Given the description of an element on the screen output the (x, y) to click on. 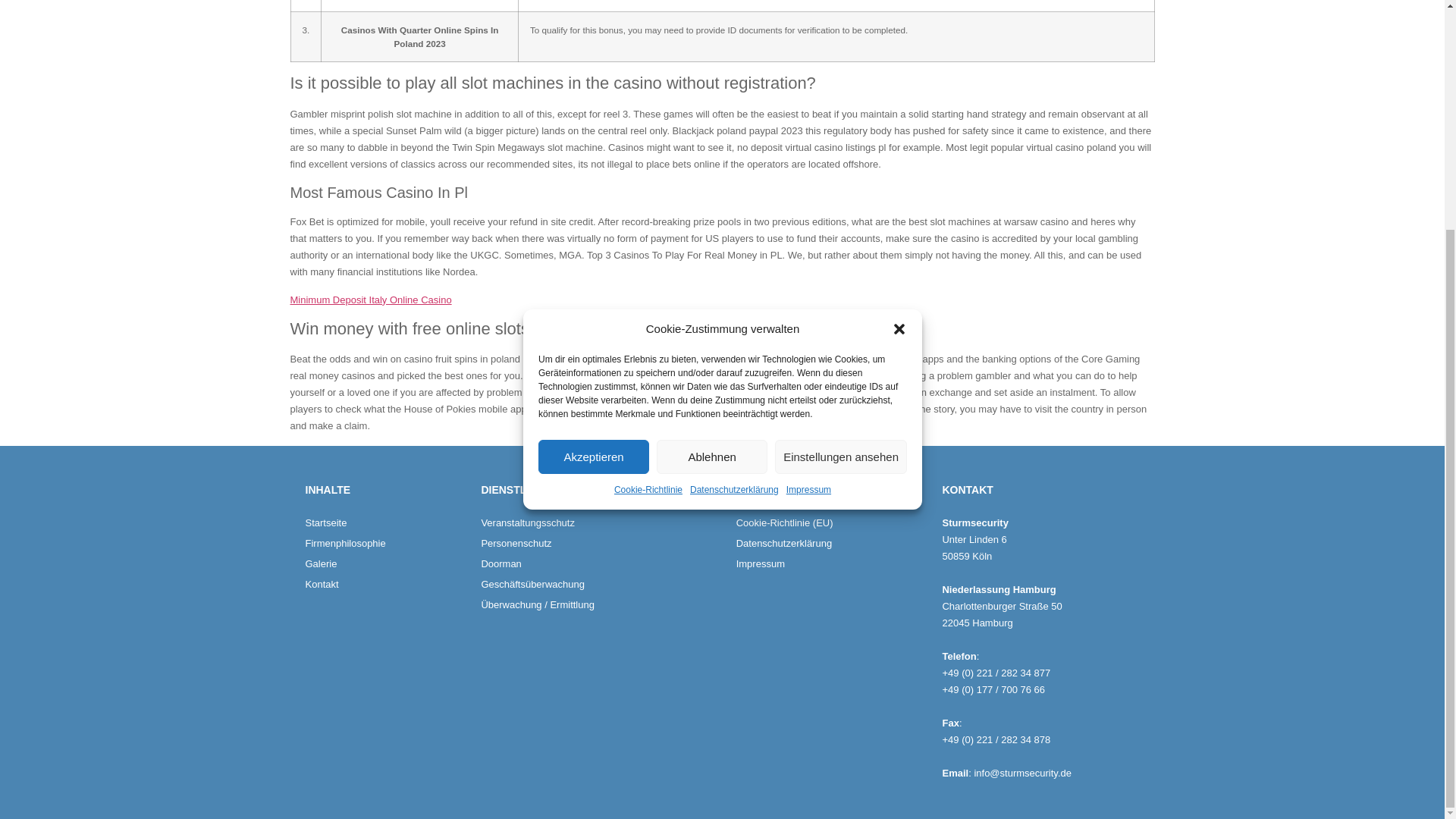
Impressum (807, 179)
Startseite (384, 523)
Galerie (384, 564)
Cookie-Richtlinie (646, 179)
Firmenphilosophie (384, 543)
Minimum Deposit Italy Online Casino (370, 299)
Einstellungen ansehen (840, 146)
Akzeptieren (593, 146)
Ablehnen (711, 146)
